Given the description of an element on the screen output the (x, y) to click on. 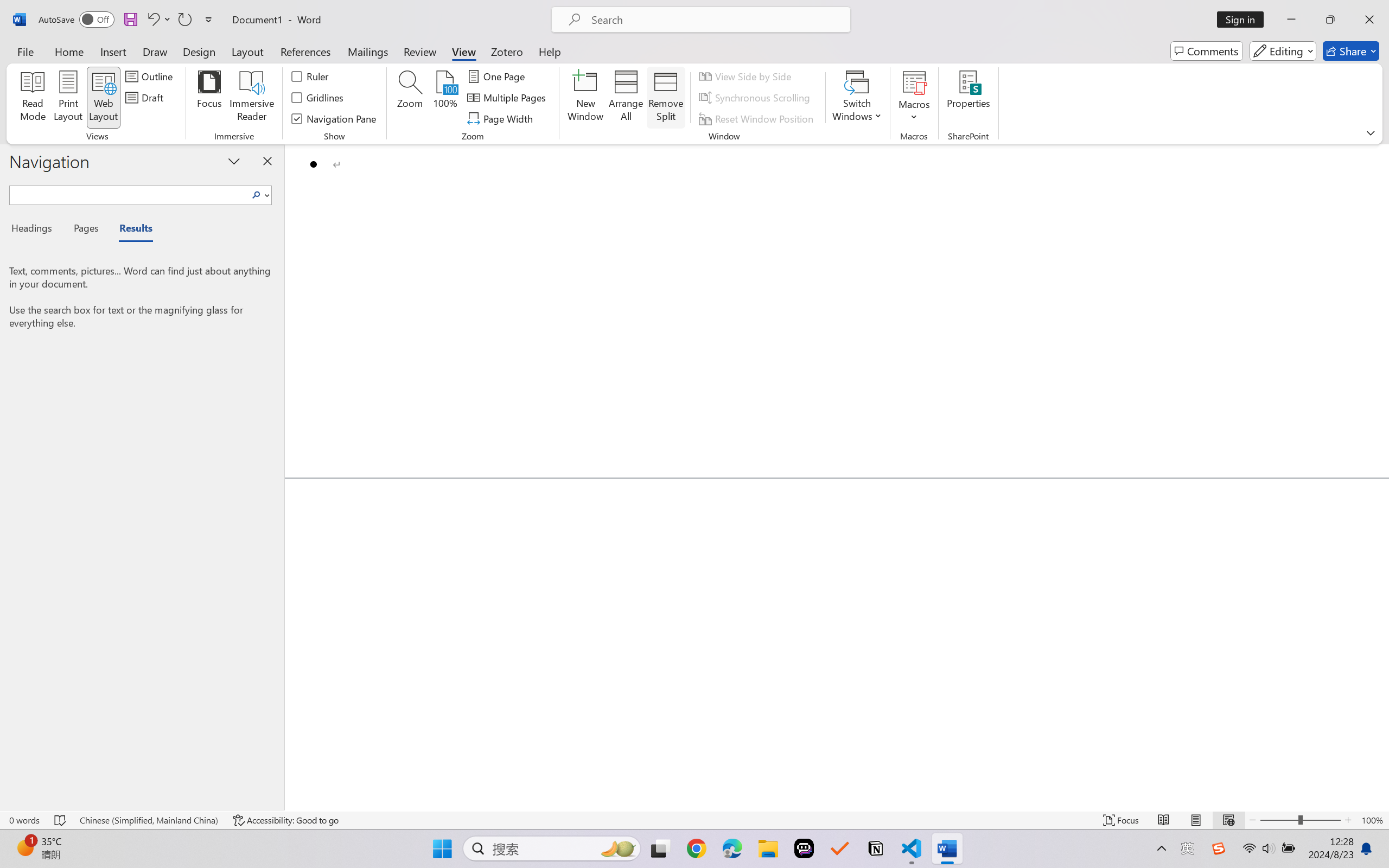
Page Width (501, 118)
Draft (146, 97)
Reset Window Position (757, 118)
Zoom... (409, 97)
Zoom 100% (1372, 819)
Sign in (1244, 19)
View Side by Side (746, 75)
Properties (967, 97)
Repeat Bullet Default (184, 19)
